Given the description of an element on the screen output the (x, y) to click on. 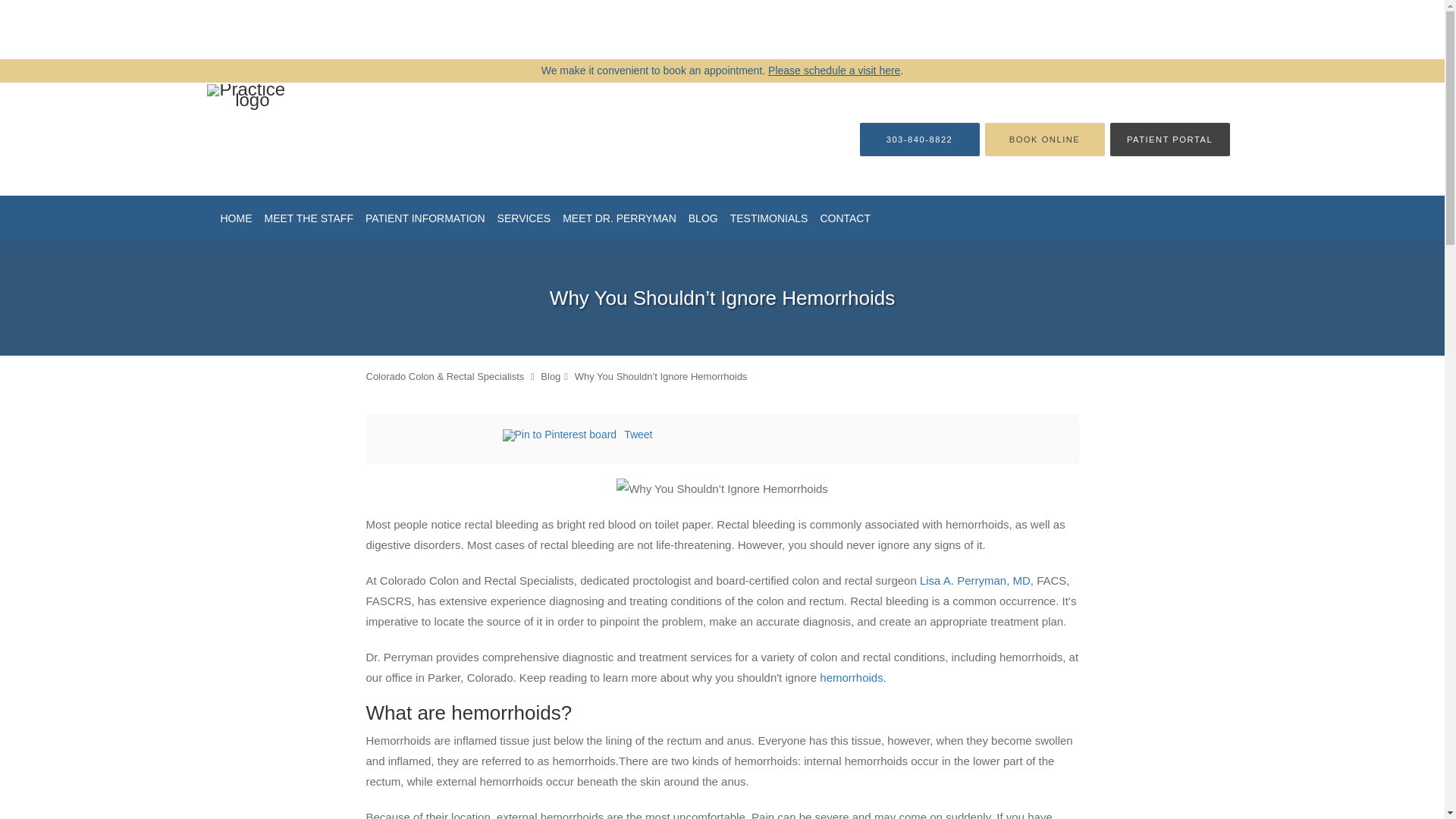
Please schedule a visit here (833, 70)
Tweet (638, 434)
303-840-8822 (919, 138)
PATIENT PORTAL (1169, 138)
Lisa A. Perryman, MD (975, 580)
TESTIMONIALS (768, 218)
Blog (550, 376)
BOOK ONLINE (1044, 138)
MEET DR. PERRYMAN (619, 218)
CONTACT (844, 218)
